Given the description of an element on the screen output the (x, y) to click on. 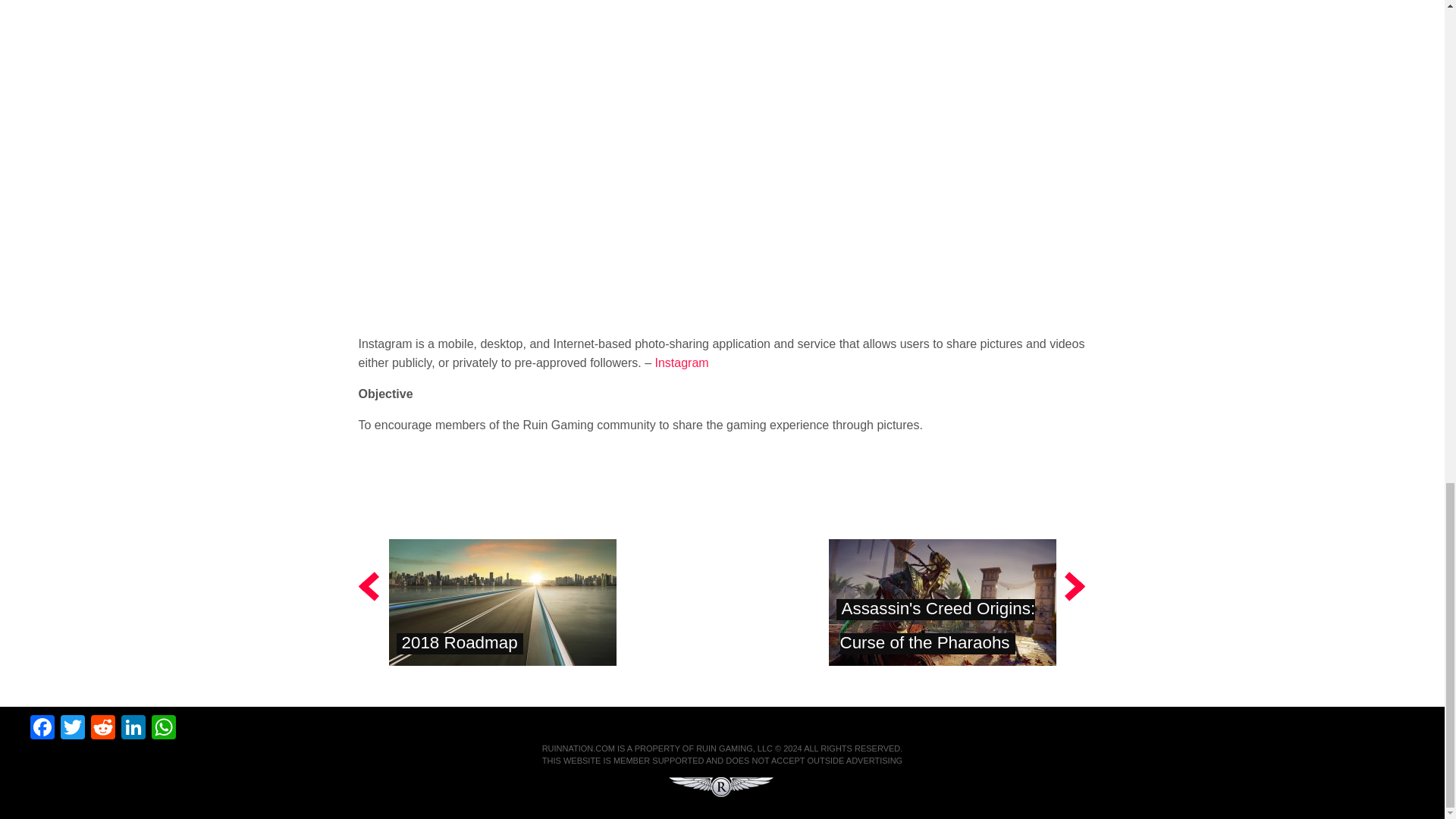
Reddit (102, 728)
Twitter (72, 728)
Instagram (682, 362)
LinkedIn (132, 728)
Facebook (42, 728)
WhatsApp (163, 728)
Assassin's Creed Origins: Curse of the Pharaohs (937, 624)
Twitter (72, 728)
2018 Roadmap (459, 642)
LinkedIn (132, 728)
WhatsApp (163, 728)
Facebook (42, 728)
Reddit (102, 728)
